Given the description of an element on the screen output the (x, y) to click on. 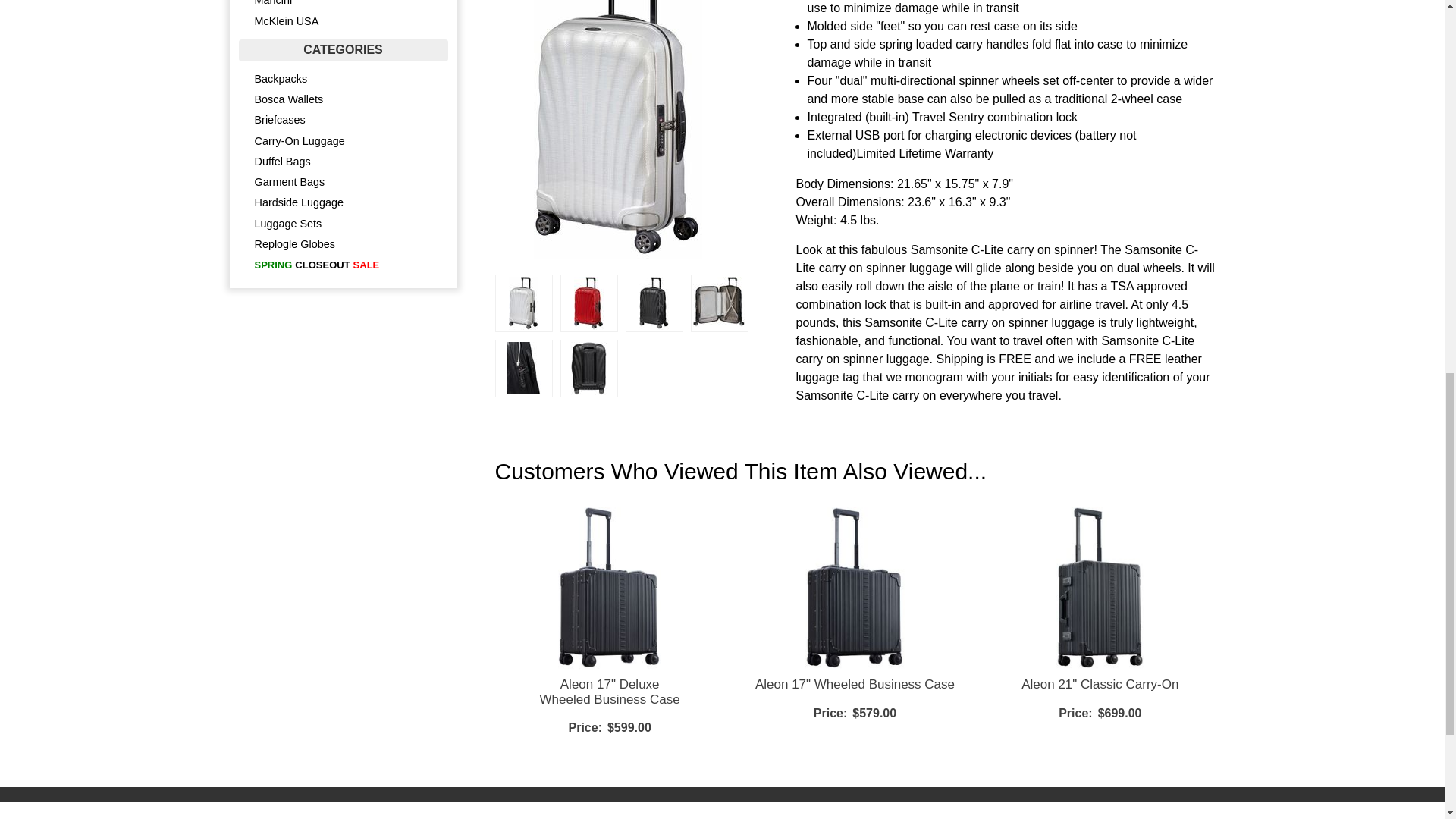
Aleon 17" Wheeled Business Case (855, 684)
Aleon 21 Classic Carry-On (1099, 684)
Aleon 17 Wheeled Business Case (855, 684)
Aleon 17" Deluxe Wheeled Business Case (609, 691)
Aleon 21" Classic Carry-On (1099, 684)
Aleon 17 Deluxe Wheeled Business Case (609, 691)
